Given the description of an element on the screen output the (x, y) to click on. 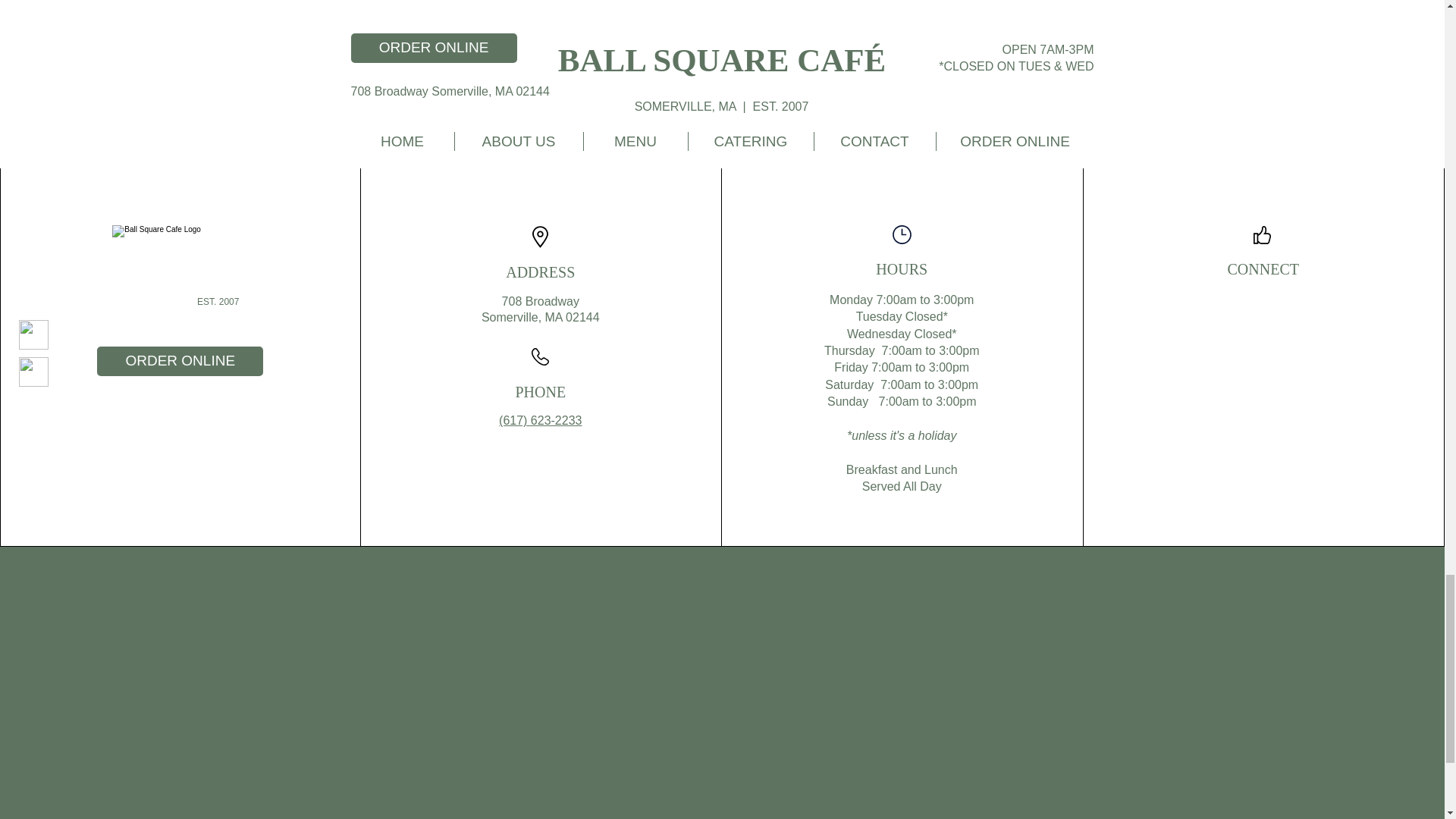
SUBSCRIBE NOW (825, 48)
ORDER ONLINE (180, 360)
